Given the description of an element on the screen output the (x, y) to click on. 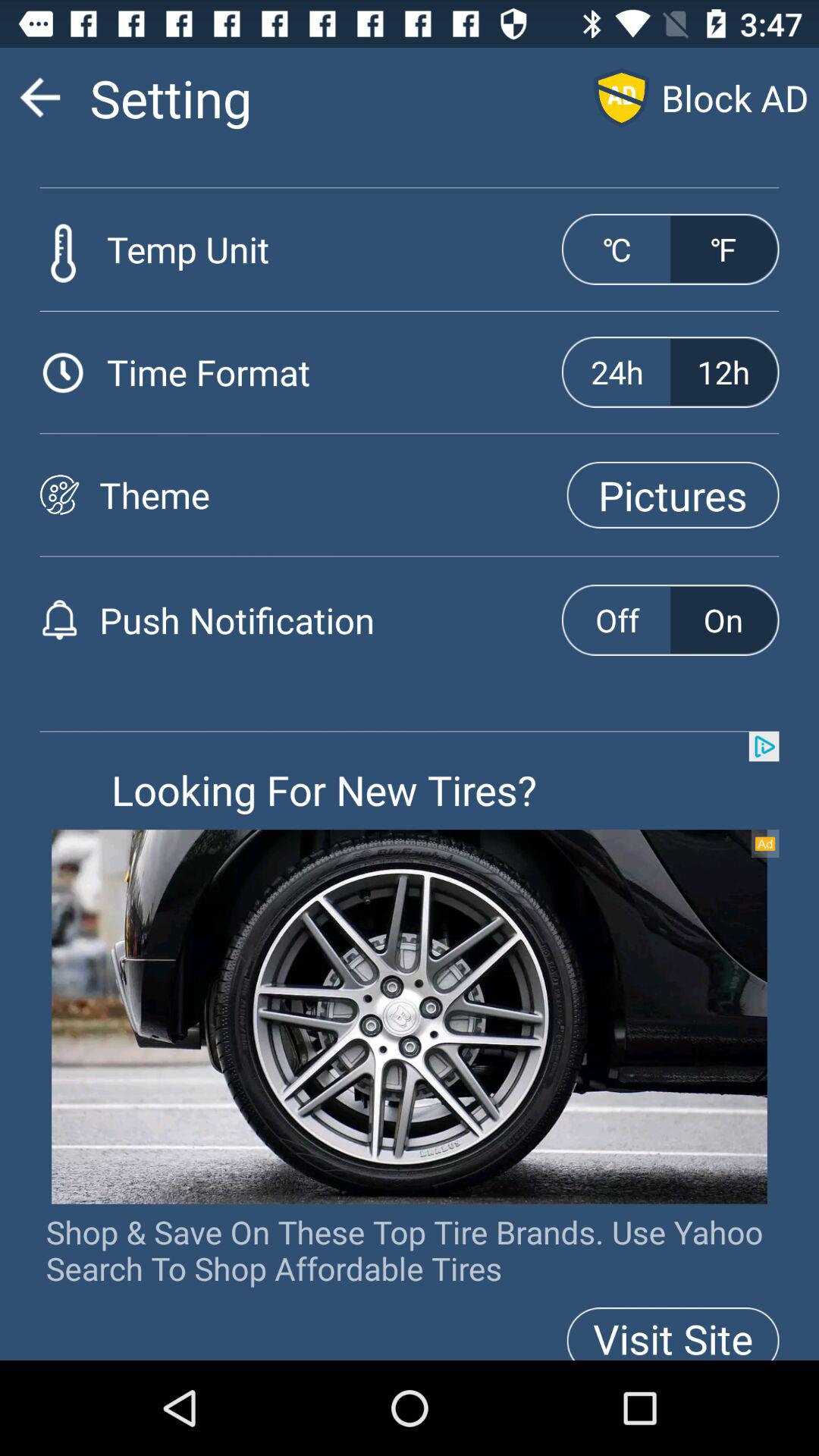
select off botton which is below pictures (617, 619)
click on the on icon beside push notification (723, 619)
click on the icon which is left of the text settings (39, 96)
select the symbol which is to the left of theme (59, 494)
